Given the description of an element on the screen output the (x, y) to click on. 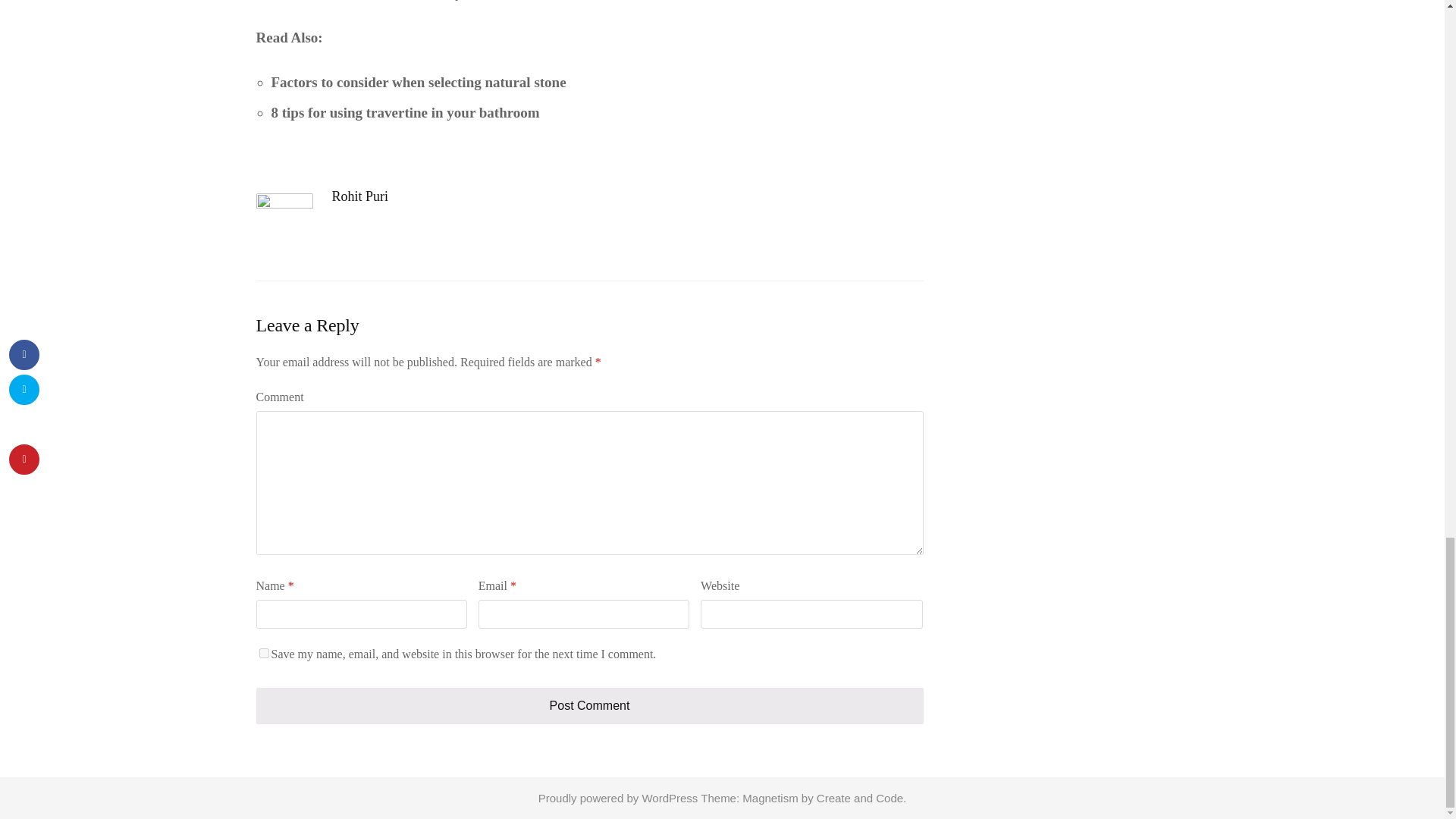
Post Comment (589, 705)
Proudly powered by WordPress (618, 797)
yes (264, 653)
Post Comment (589, 705)
